Given the description of an element on the screen output the (x, y) to click on. 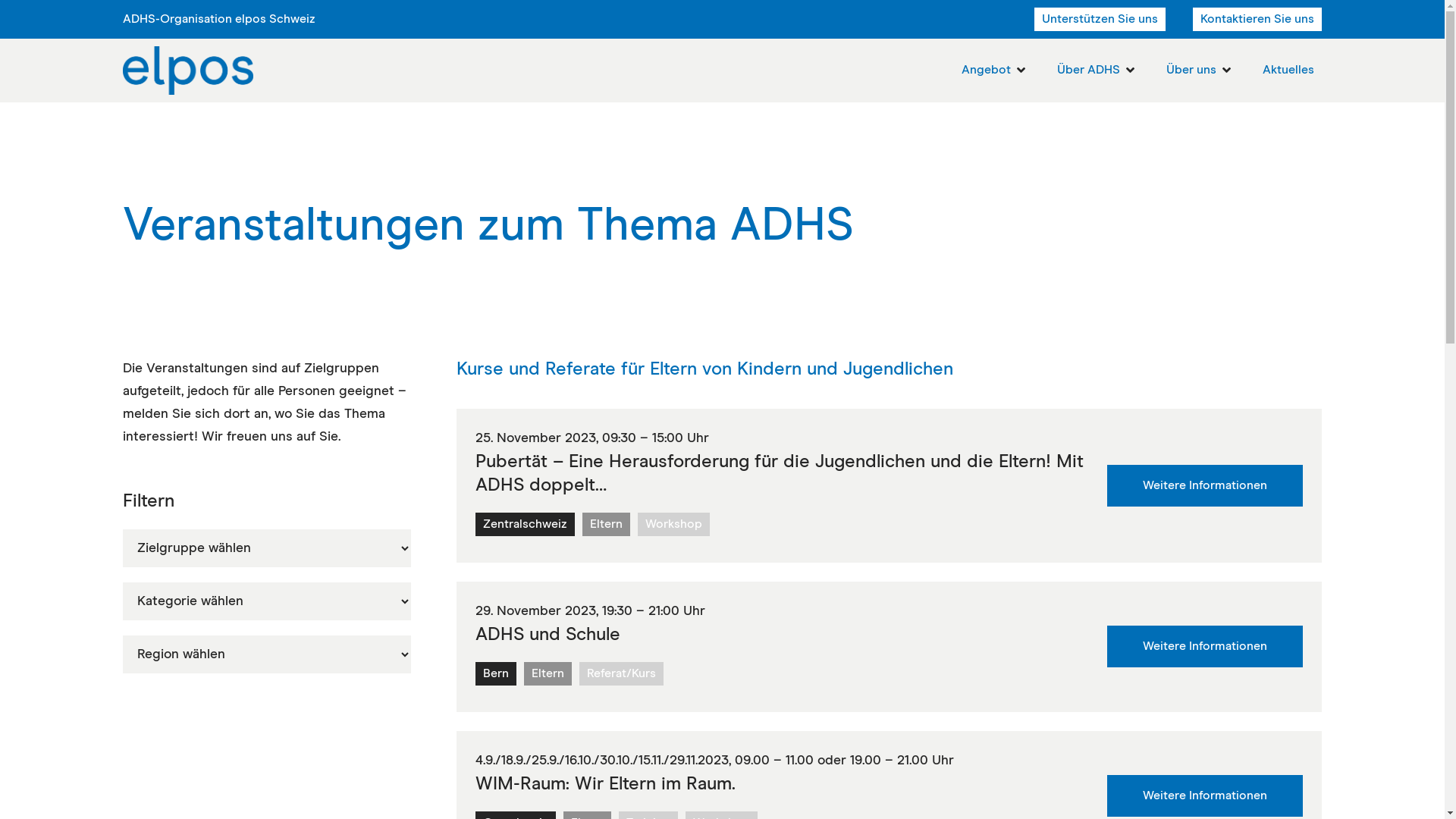
WIM-Raum: Wir Eltern im Raum. Element type: text (605, 784)
ADHS und Schule Element type: text (547, 634)
Weitere Informationen Element type: text (1204, 795)
Aktuelles Element type: text (1288, 70)
Angebot Element type: text (985, 70)
Kontaktieren Sie uns Element type: text (1256, 19)
Weitere Informationen Element type: text (1204, 485)
Weitere Informationen Element type: text (1204, 646)
